Given the description of an element on the screen output the (x, y) to click on. 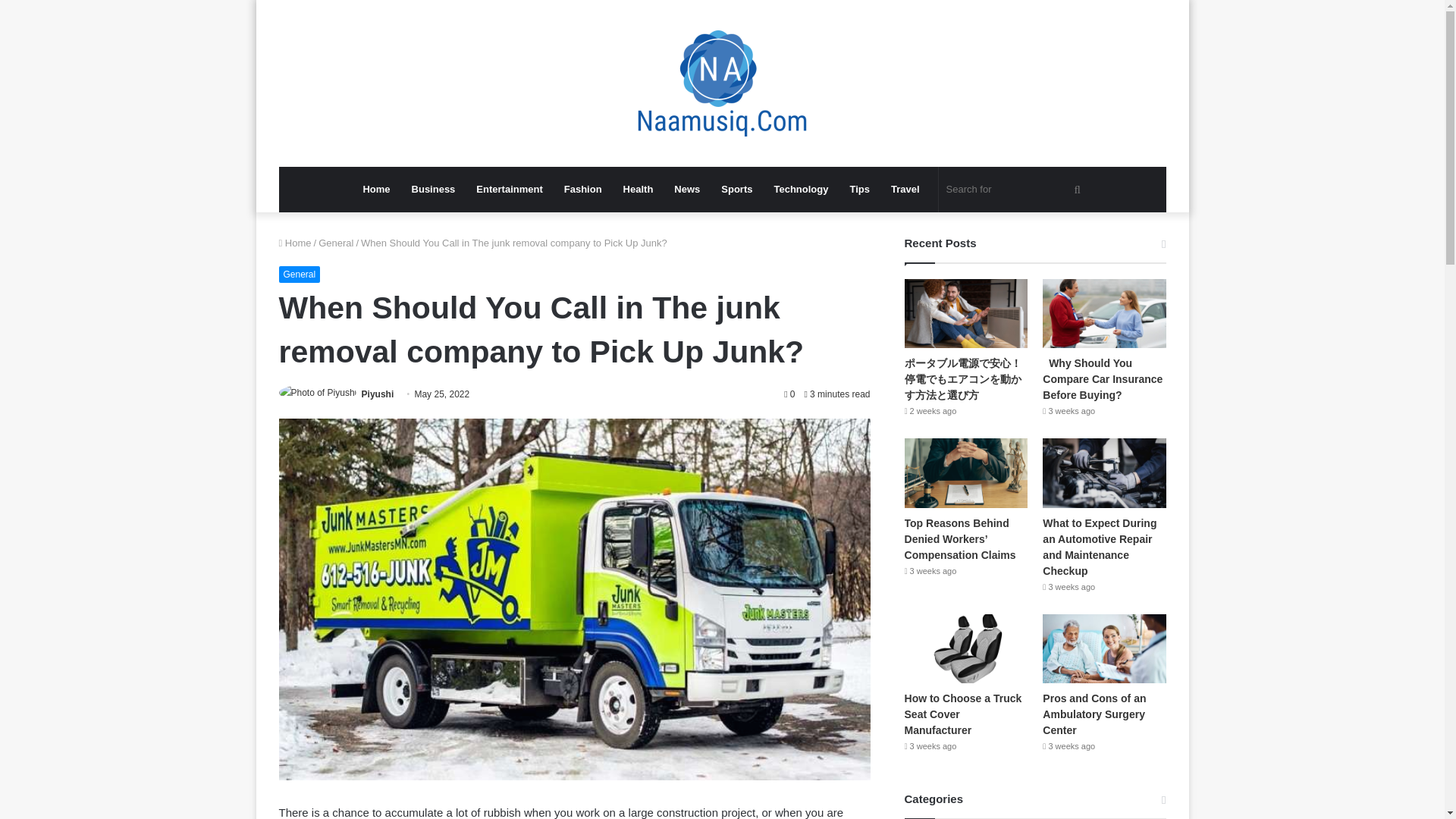
Technology (800, 189)
Piyushi (377, 394)
Travel (905, 189)
Entertainment (509, 189)
Fashion (582, 189)
General (335, 242)
Business (433, 189)
Search for (1016, 189)
Piyushi (377, 394)
Health (637, 189)
